Given the description of an element on the screen output the (x, y) to click on. 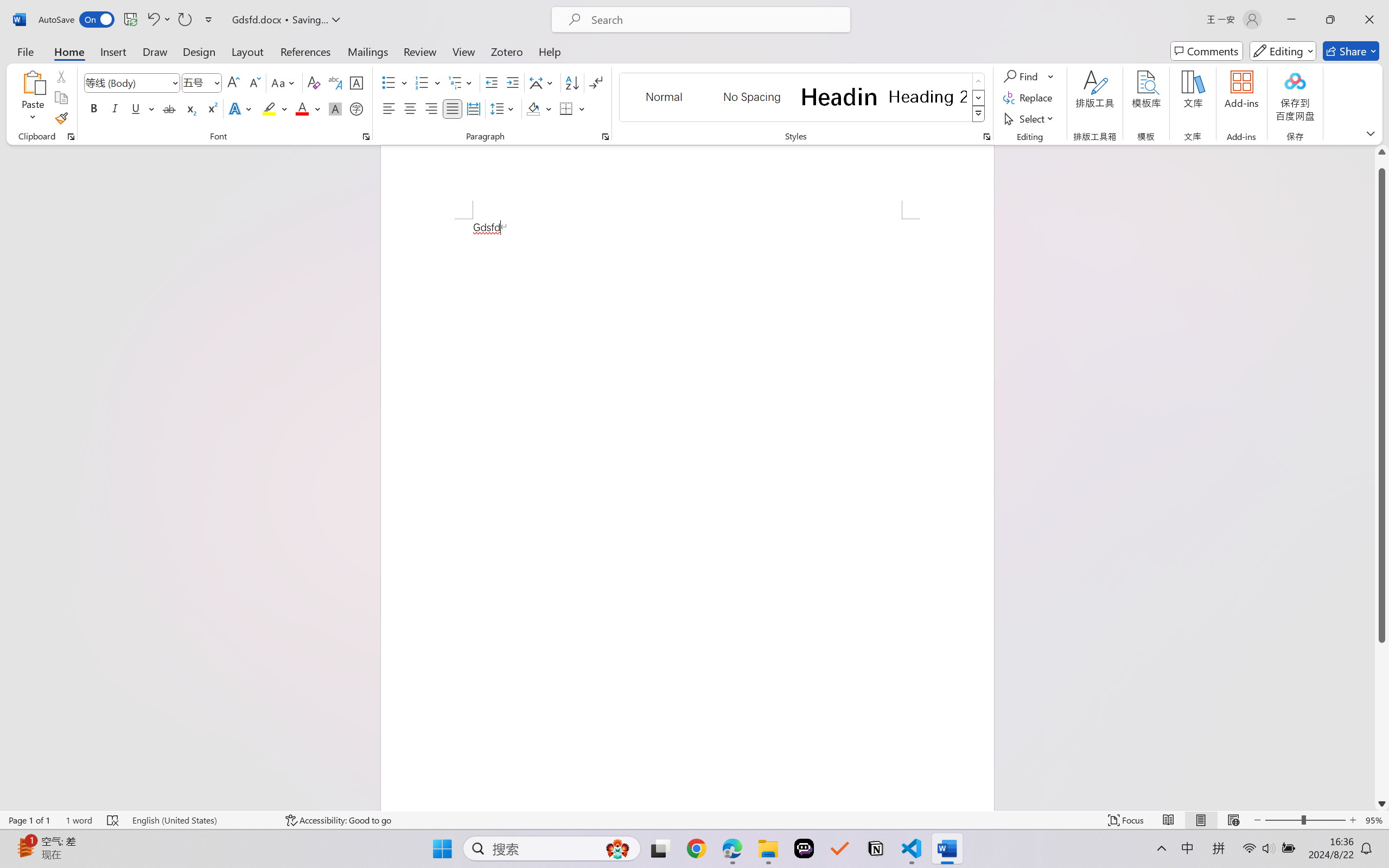
Shading (539, 108)
Replace... (1029, 97)
Font... (365, 136)
Justify (452, 108)
Text Highlight Color Yellow (269, 108)
Cut (60, 75)
Page down (1382, 719)
